Given the description of an element on the screen output the (x, y) to click on. 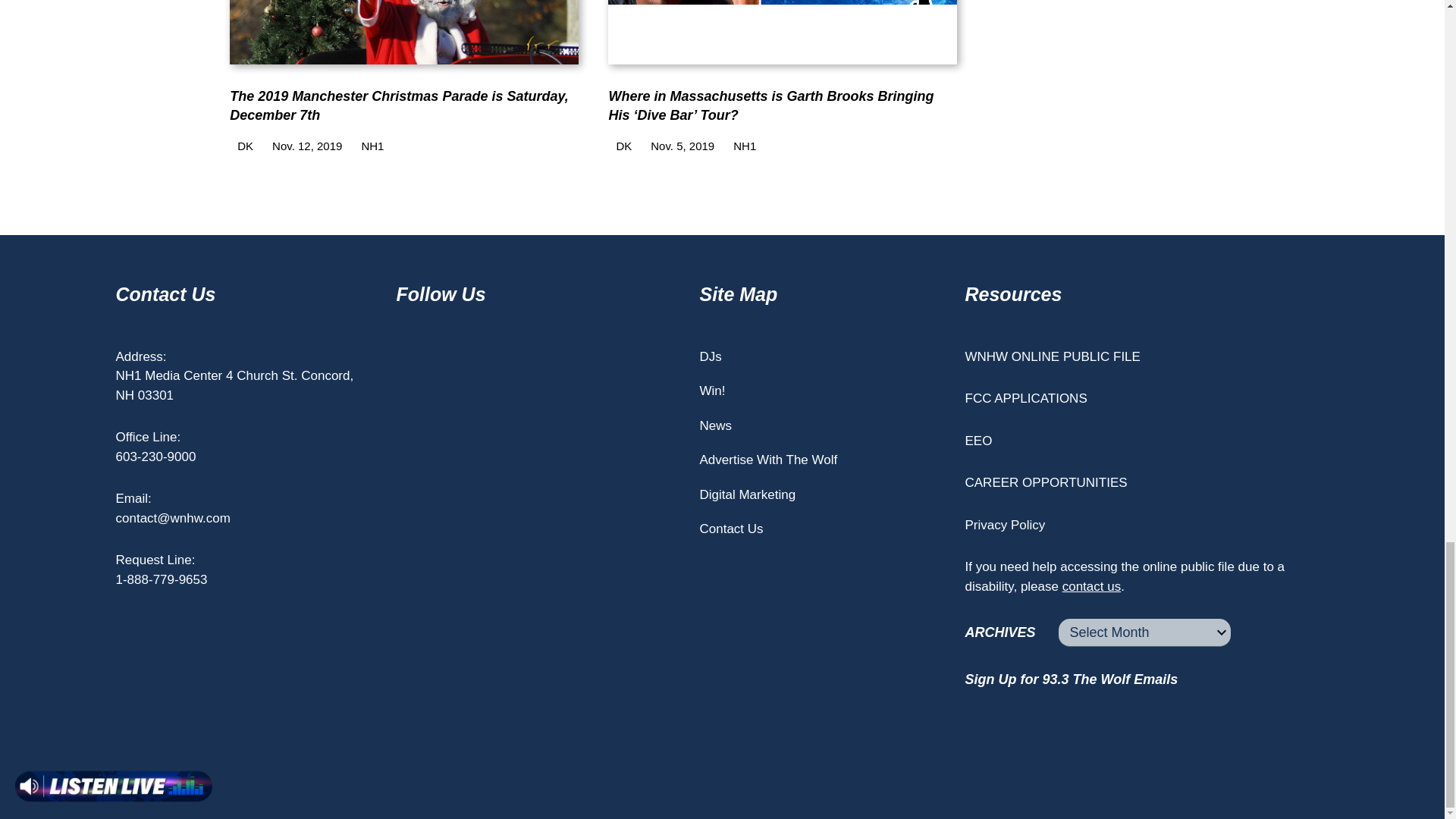
NH1 (368, 145)
DK (241, 145)
